Given the description of an element on the screen output the (x, y) to click on. 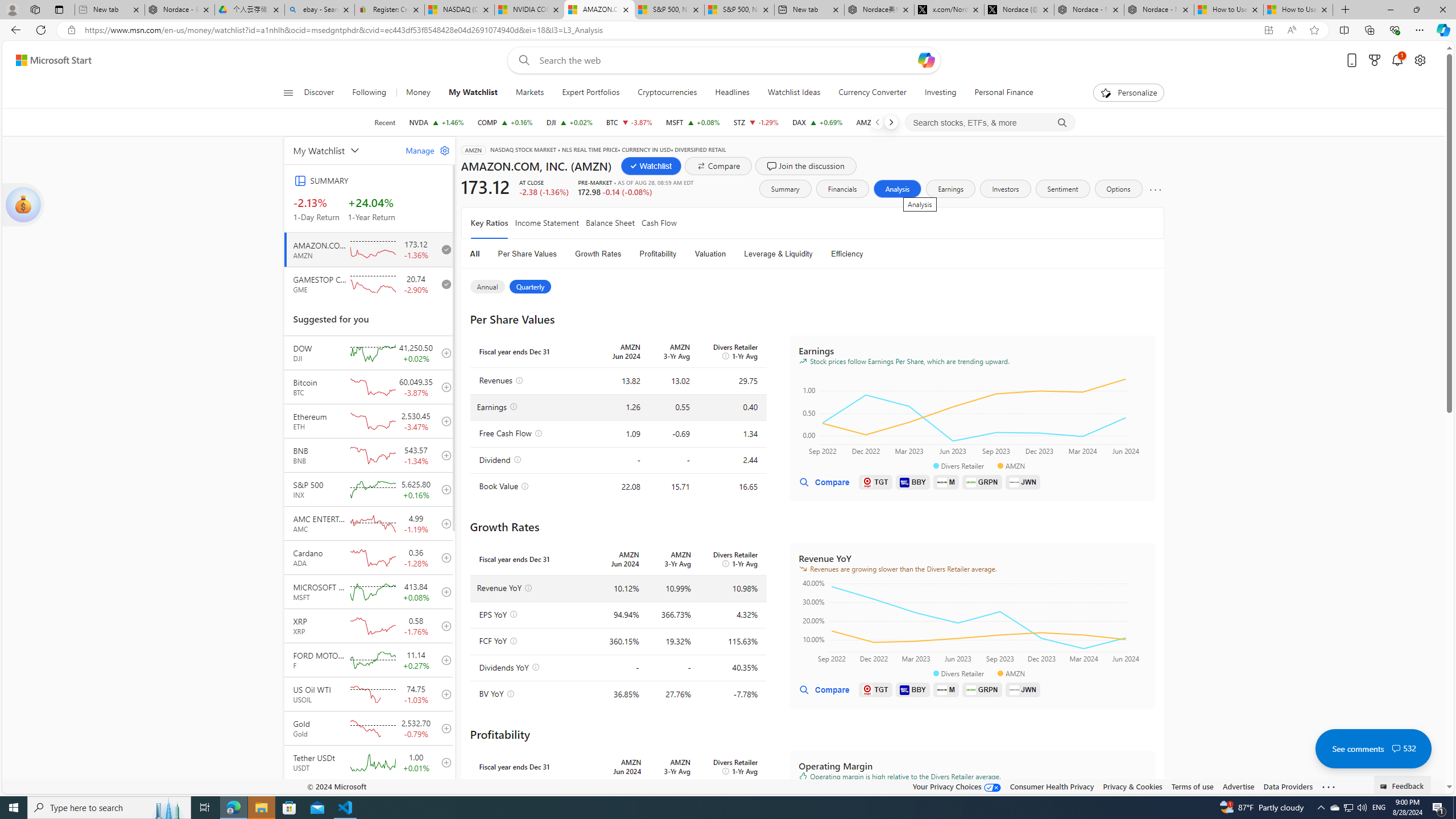
Watchlist (650, 166)
Open navigation menu (287, 92)
Data Providers (1288, 786)
Following (368, 92)
Valuation (710, 253)
Microsoft rewards (1374, 60)
Class: text-DS-EntryPoint1-3 (883, 254)
Consumer Health Privacy (1051, 785)
Headlines (732, 92)
Consumer Health Privacy (1051, 786)
